Given the description of an element on the screen output the (x, y) to click on. 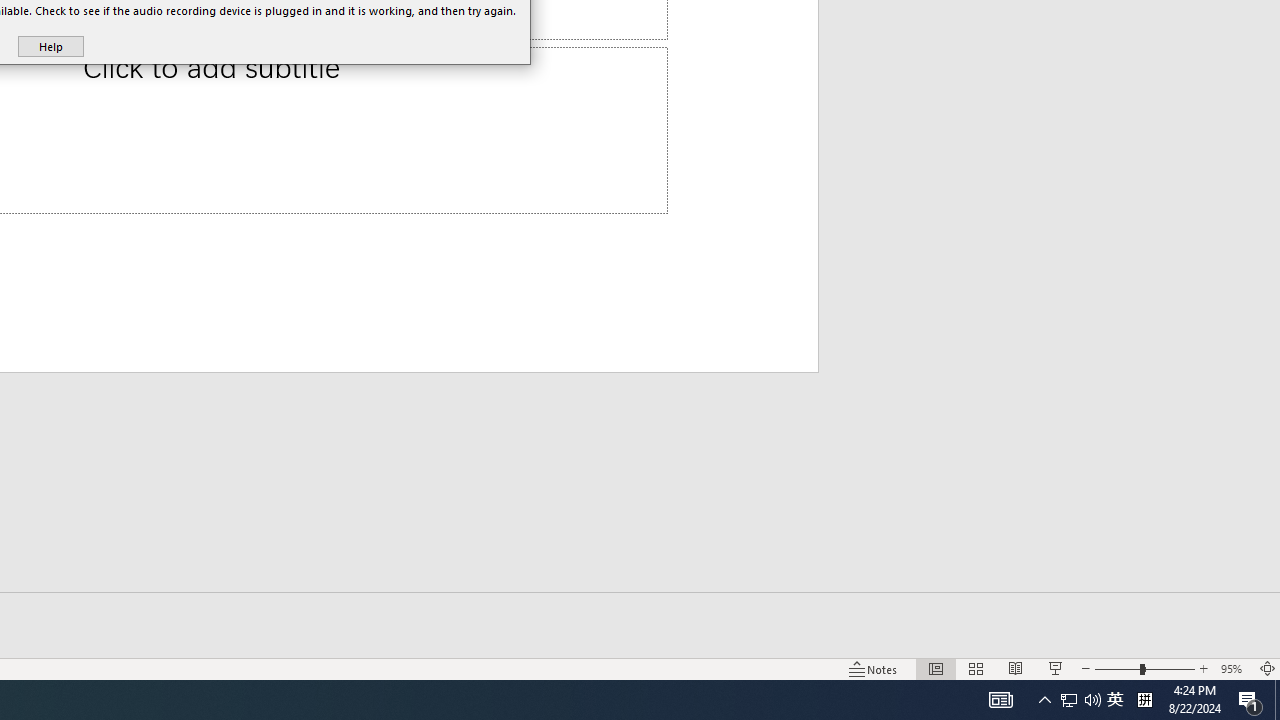
Zoom 95% (1234, 668)
